Given the description of an element on the screen output the (x, y) to click on. 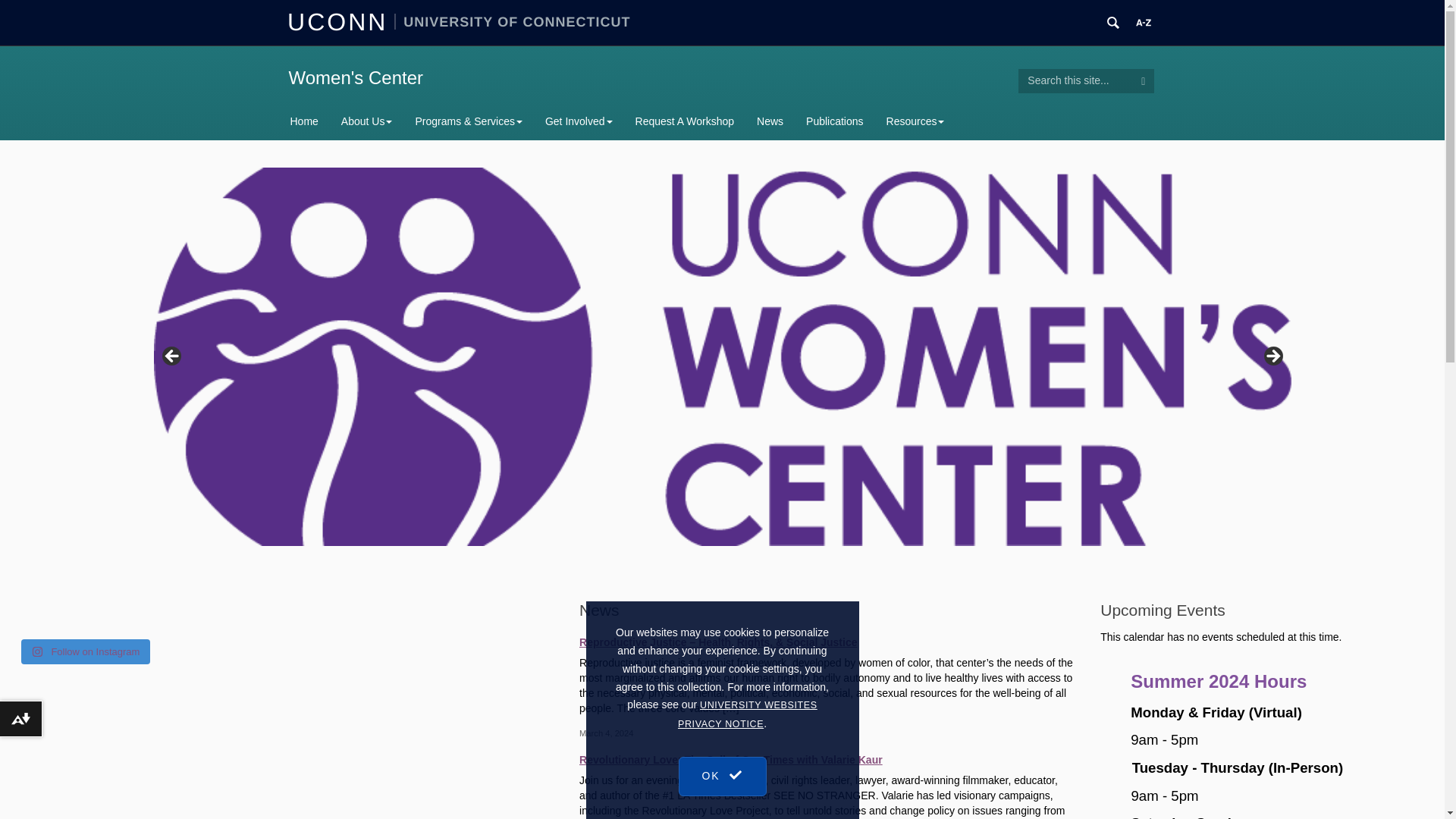
Request A Workshop (684, 121)
Search UConn (1112, 22)
Women's Center (355, 77)
Search (1143, 80)
Get Involved (579, 121)
Search (1143, 80)
About Us (367, 121)
UCONN (340, 21)
Search this site...  (1074, 80)
Revolutionary Love: The Call of Our Times with Valarie Kaur (828, 757)
UConn A to Z Index (1143, 22)
Home (309, 121)
UNIVERSITY OF CONNECTICUT (512, 21)
